Given the description of an element on the screen output the (x, y) to click on. 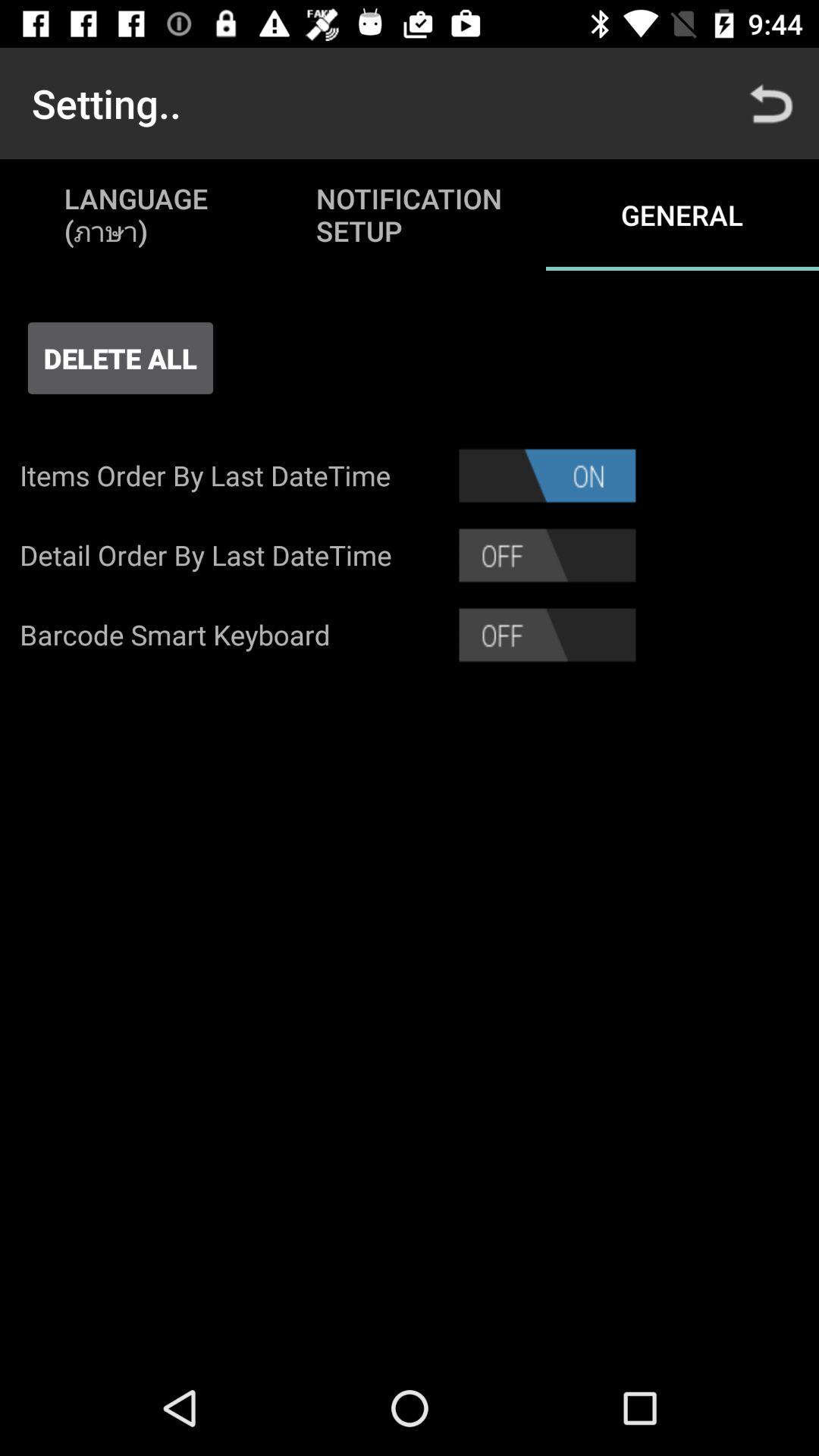
turn off item order by lastdatetime (547, 475)
